Given the description of an element on the screen output the (x, y) to click on. 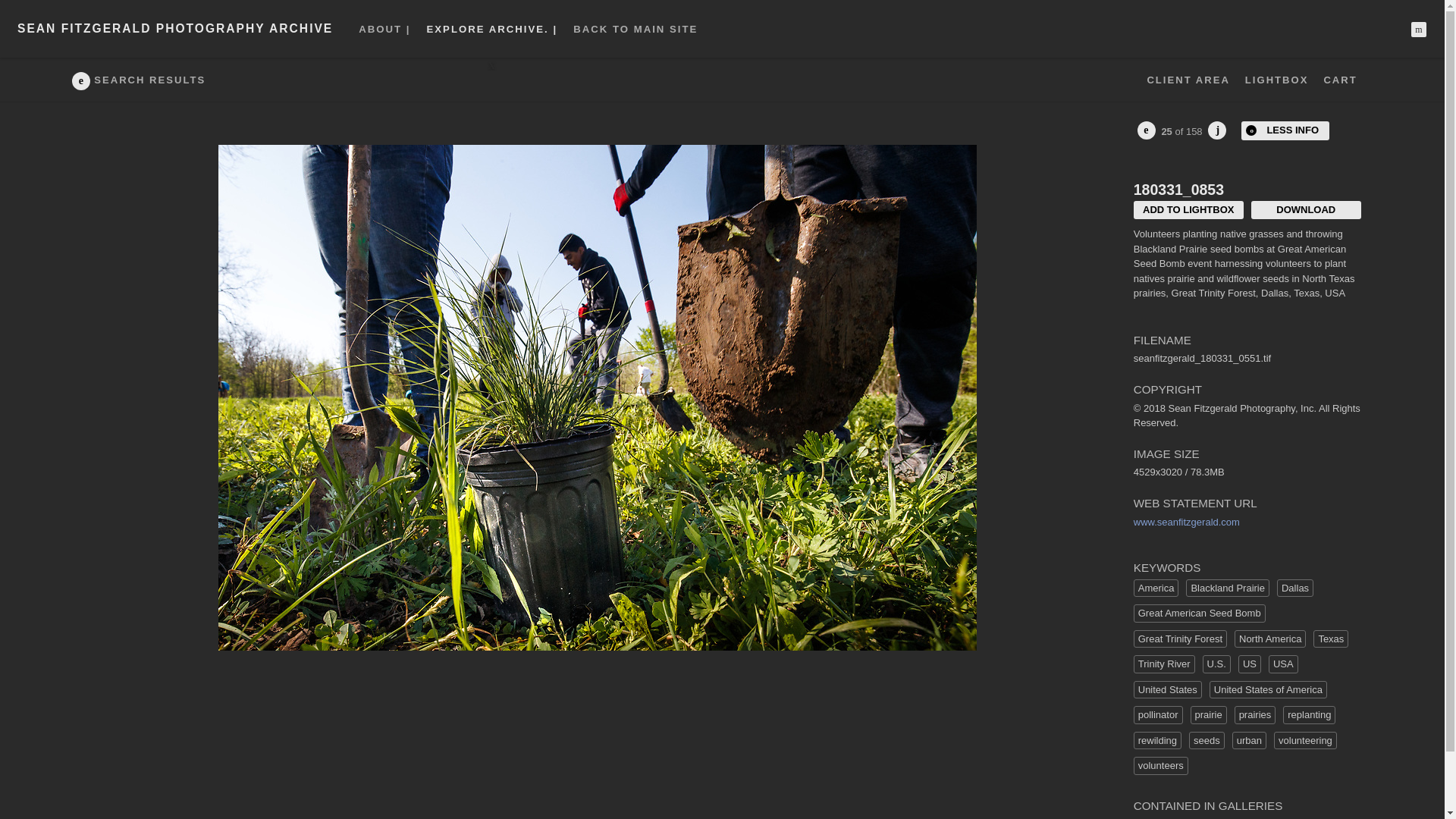
CLIENT AREA (1187, 80)
United States (1168, 689)
LIGHTBOX (1276, 80)
replanting (1308, 714)
Trinity River (1164, 664)
SEAN FITZGERALD PHOTOGRAPHY ARCHIVE (175, 28)
prairies (1255, 714)
volunteers (1161, 765)
Great Trinity Forest (1180, 638)
pollinator (1158, 714)
Great American Seed Bomb (1199, 613)
Blackland Prairie (1227, 588)
seeds (1206, 741)
CART (1339, 80)
rewilding (1157, 741)
